Given the description of an element on the screen output the (x, y) to click on. 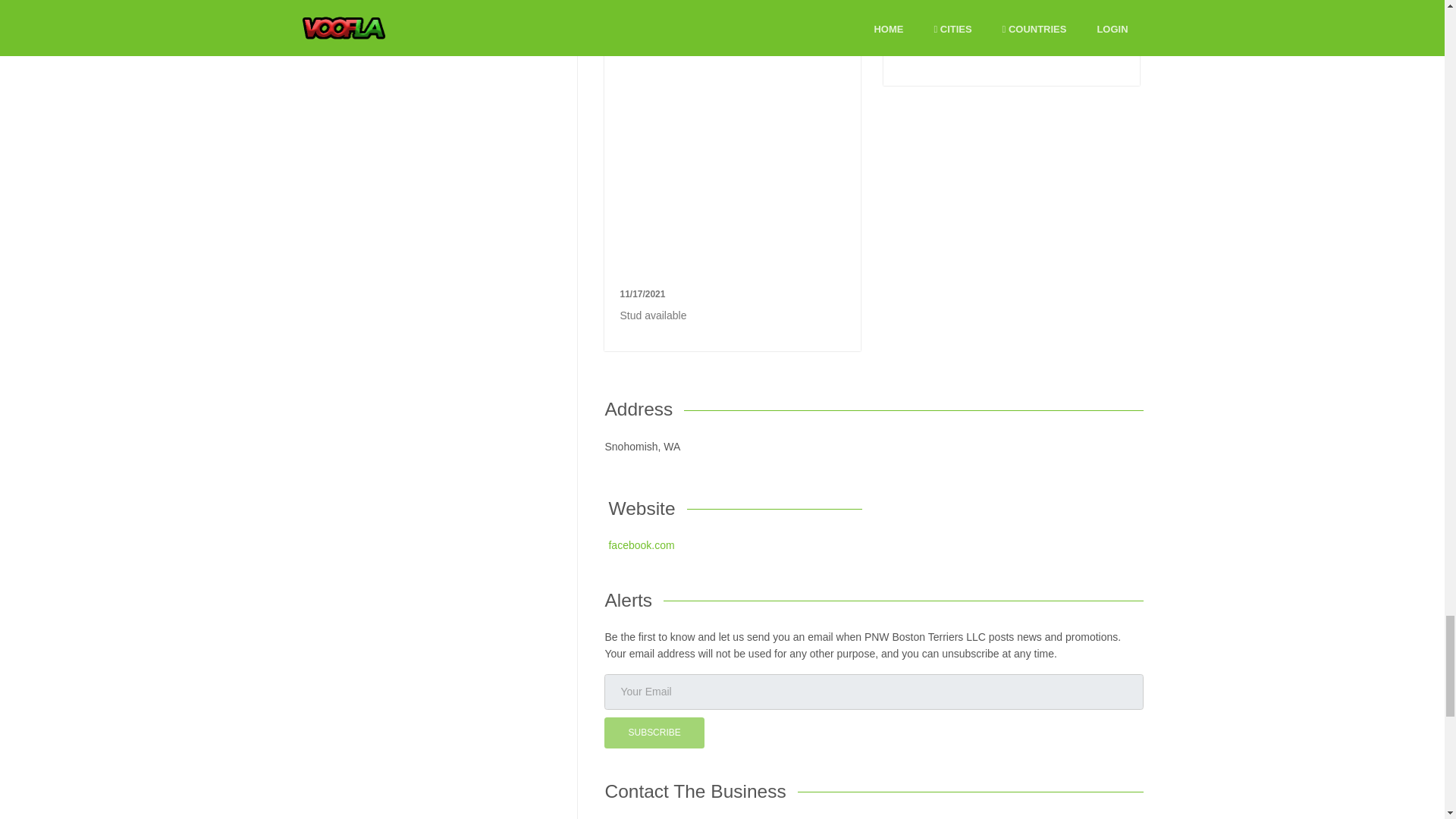
SUBSCRIBE (653, 732)
facebook.com (641, 544)
